Given the description of an element on the screen output the (x, y) to click on. 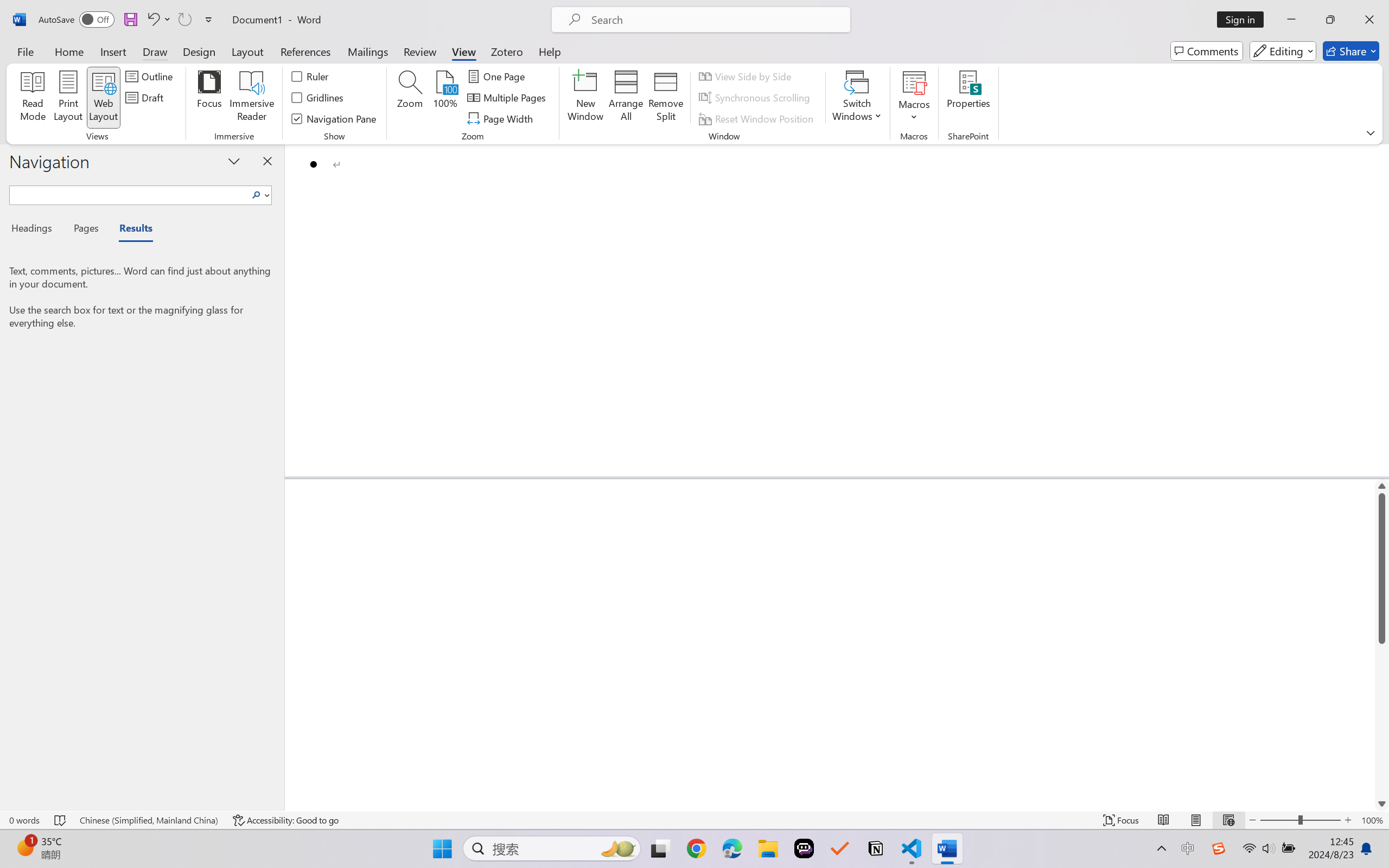
Multiple Pages (507, 97)
Page Width (501, 118)
Draft (146, 97)
Undo Bullet Default (158, 19)
New Window (585, 97)
Line up (1382, 486)
Headings (35, 229)
Switch Windows (856, 97)
